Given the description of an element on the screen output the (x, y) to click on. 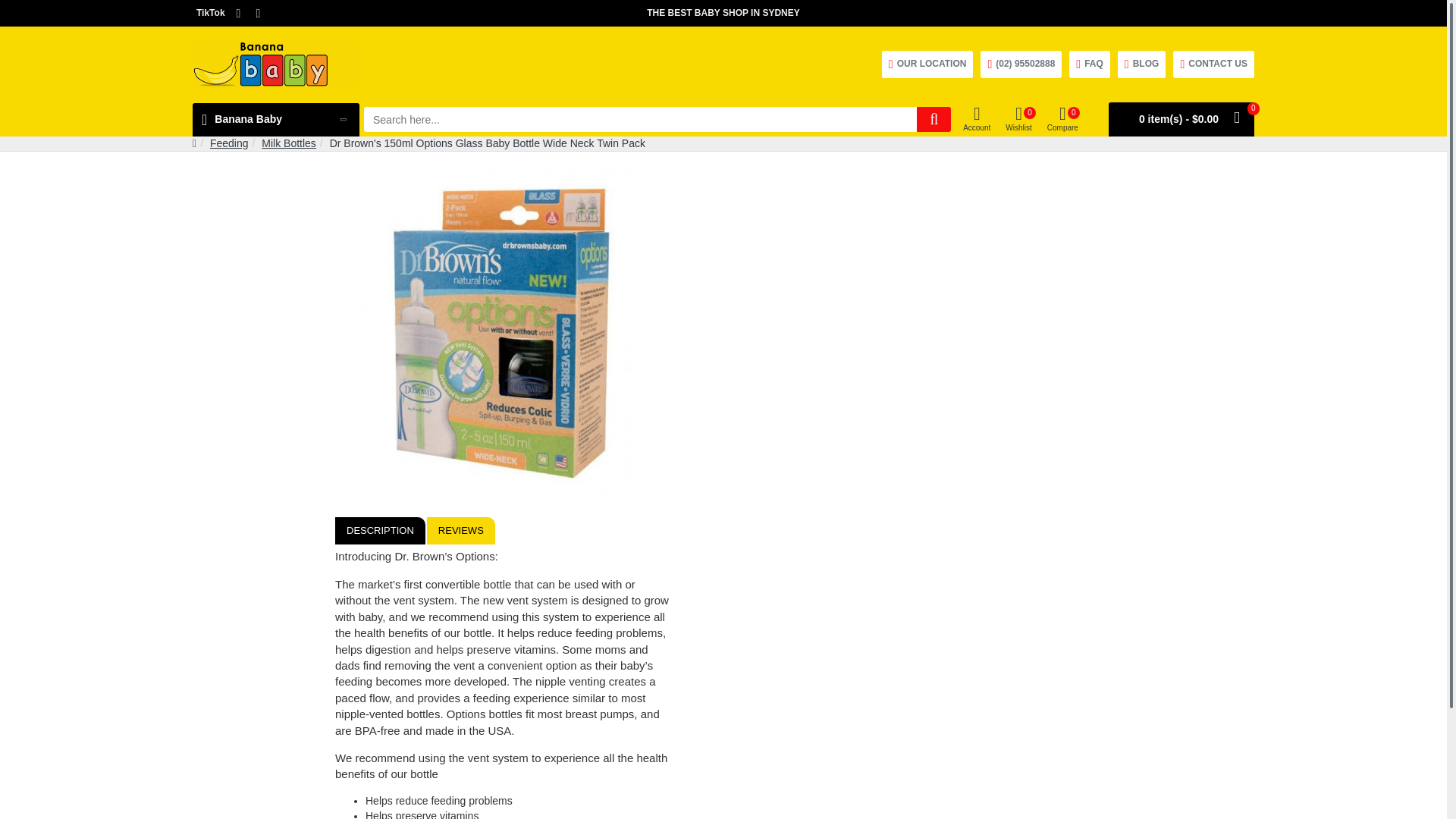
Banana Baby (275, 119)
FAQ (1088, 63)
OUR LOCATION (928, 63)
BLOG (1142, 63)
Banana Baby (275, 64)
THE BEST BABY SHOP IN SYDNEY (723, 13)
CONTACT US (1213, 63)
TikTok (210, 13)
